Given the description of an element on the screen output the (x, y) to click on. 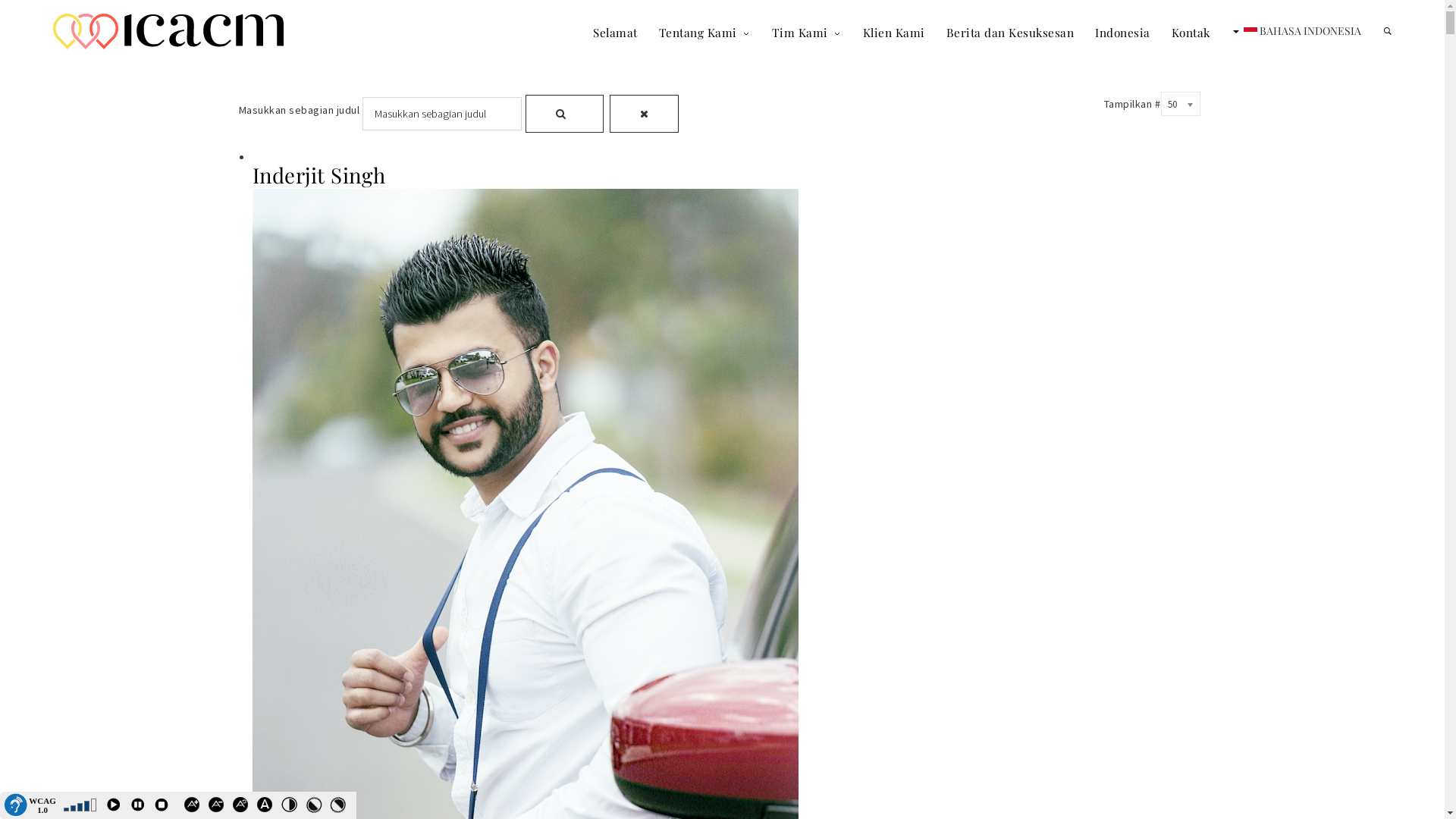
  BAHASA INDONESIA Element type: text (1295, 30)
Tim Kami Element type: text (806, 31)
Bersihkan Element type: hover (643, 113)
Indonesia Element type: text (1122, 32)
Tim Kami Element type: text (799, 32)
Berita dan Kesuksesan Element type: text (1010, 32)
Kontak Element type: text (1189, 32)
Cari Element type: hover (563, 113)
Selamat Element type: text (615, 32)
50 Element type: text (1179, 103)
Tentang Kami Element type: text (697, 32)
Inderjit Singh Element type: text (318, 174)
Masukkan semua atau sebagian judul untuk dicari. Element type: hover (441, 113)
Tentang Kami Element type: text (703, 31)
Klien Kami Element type: text (893, 32)
